Given the description of an element on the screen output the (x, y) to click on. 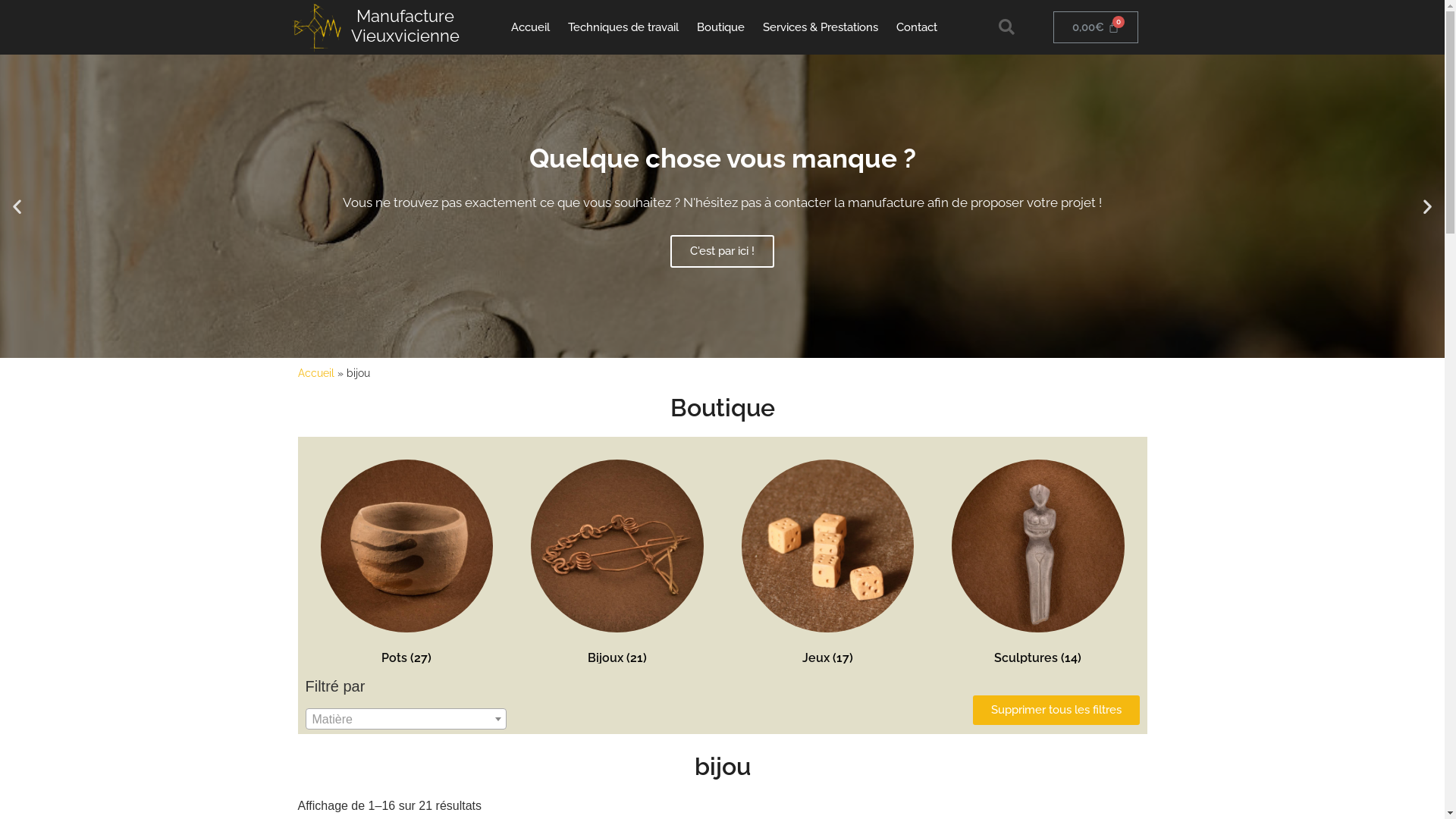
Contact Element type: text (916, 27)
Supprimer tous les filtres Element type: text (1055, 709)
Boutique Element type: text (720, 27)
Bijoux (21) Element type: text (616, 565)
Manufacture Vieuxvicienne Element type: text (404, 25)
Jeux (17) Element type: text (827, 565)
Pots (27) Element type: text (406, 565)
Sculptures (14) Element type: text (1037, 565)
Services & Prestations Element type: text (820, 27)
Techniques de travail Element type: text (622, 27)
Accueil Element type: text (315, 373)
Accueil Element type: text (530, 27)
